Given the description of an element on the screen output the (x, y) to click on. 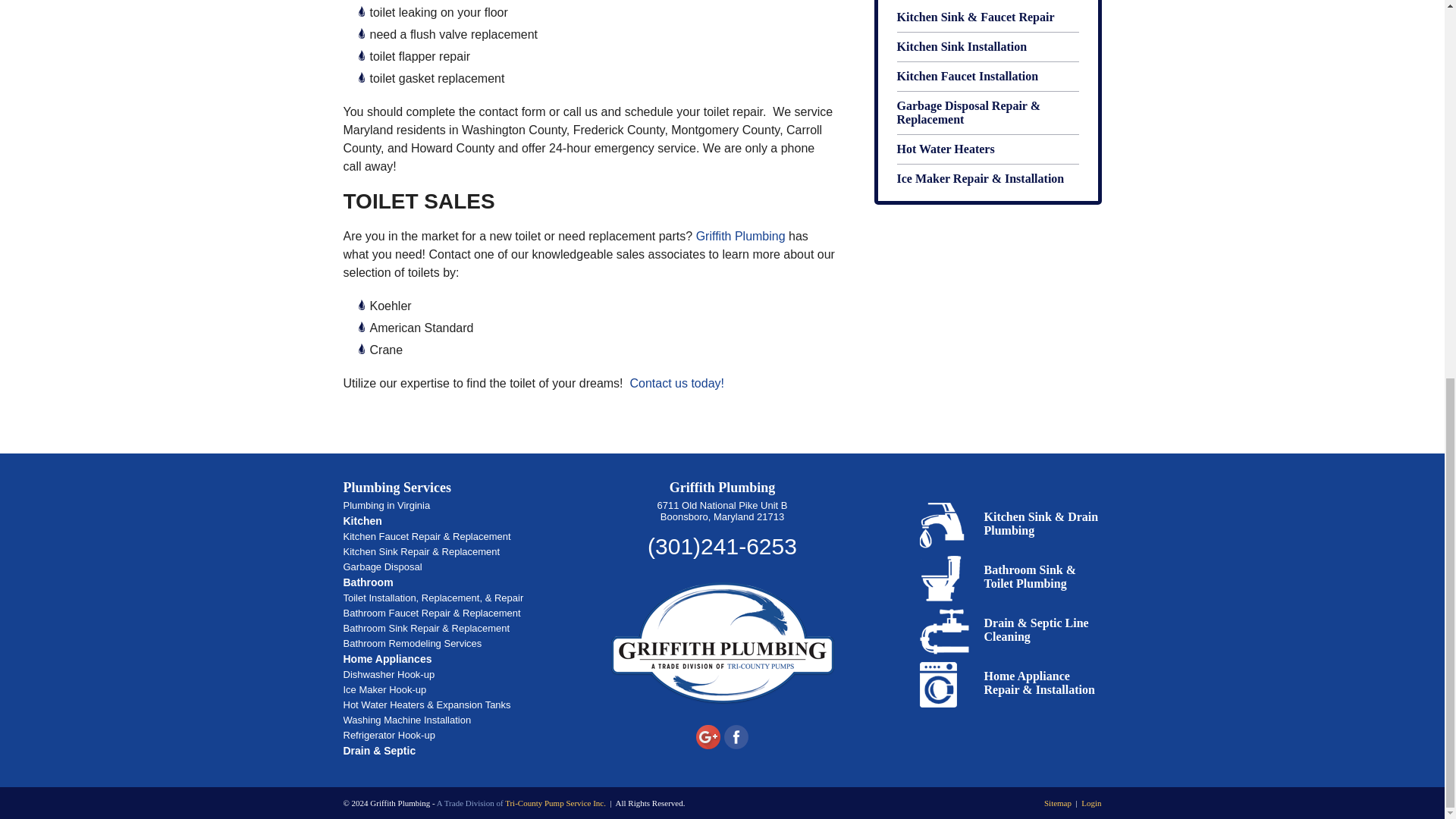
Hot Water Heaters (987, 149)
Kitchen Sink Installation (987, 47)
Follow Griffith Plumbing (709, 744)
Google Maps (707, 736)
Follow Griffith Plumbing (735, 744)
Kitchen Faucet Installation (987, 76)
Griffith Plumbing (740, 236)
Contact us today! (675, 382)
